Given the description of an element on the screen output the (x, y) to click on. 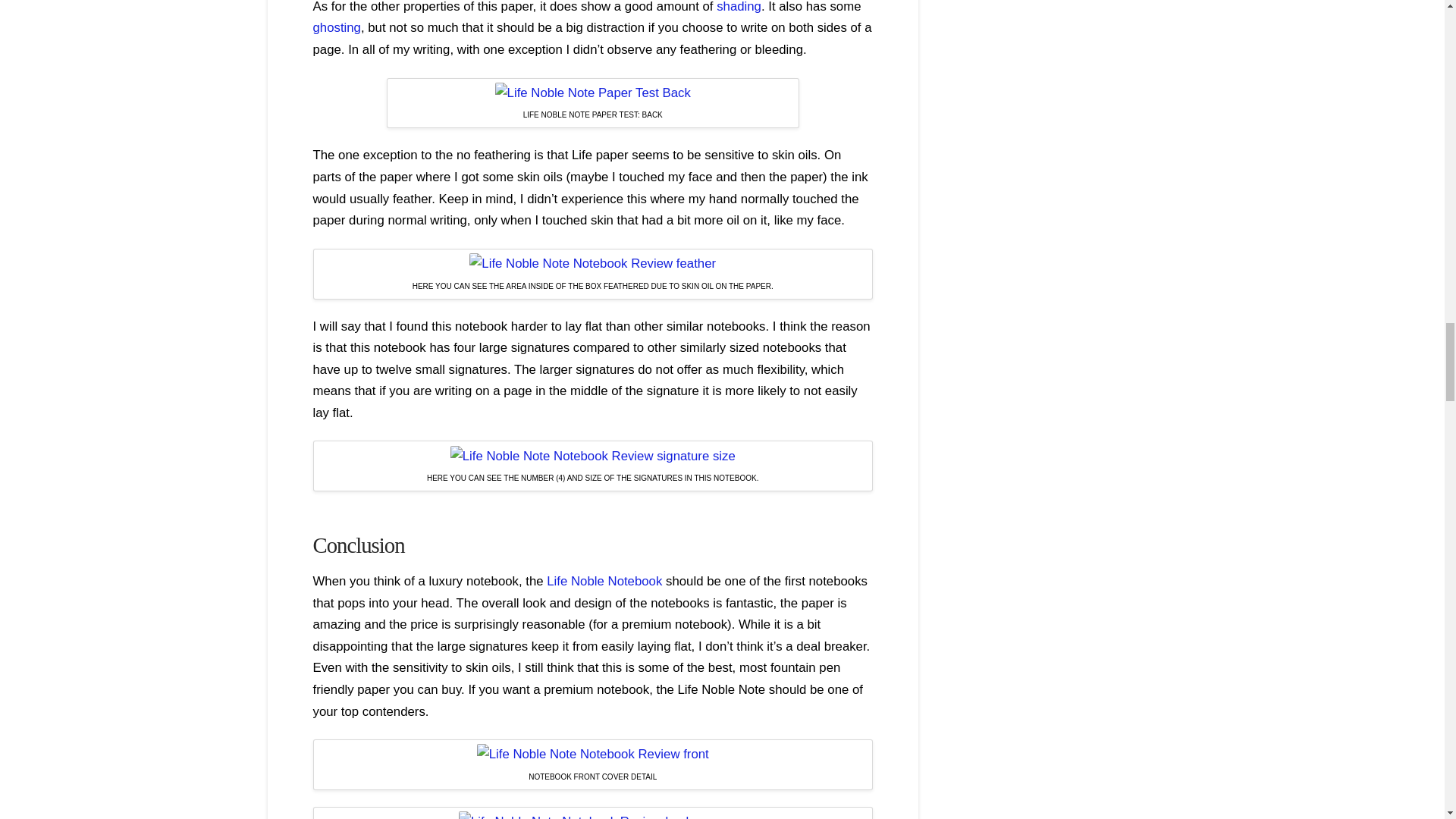
Life Noble Notebook (604, 581)
ghosting (336, 27)
shading (738, 6)
